Given the description of an element on the screen output the (x, y) to click on. 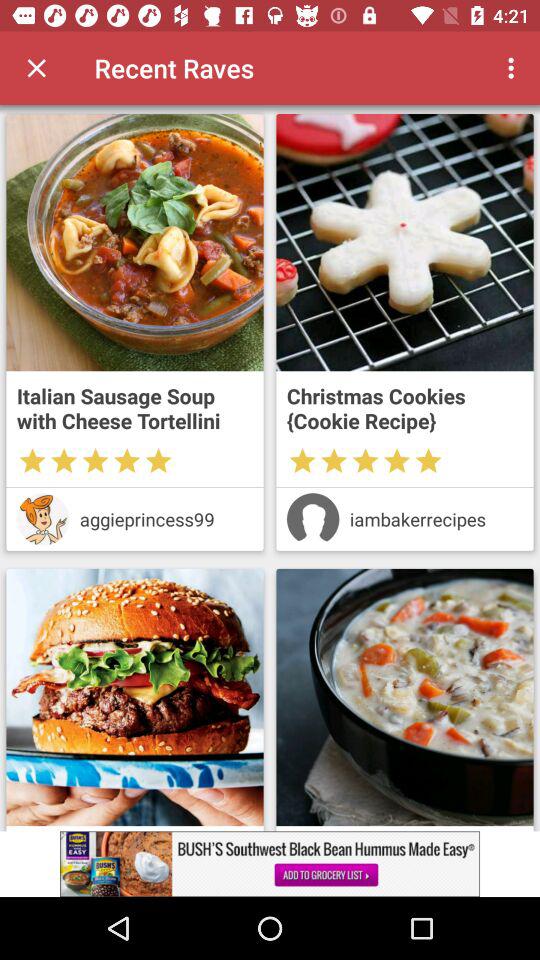
go to profile picture (42, 519)
